Given the description of an element on the screen output the (x, y) to click on. 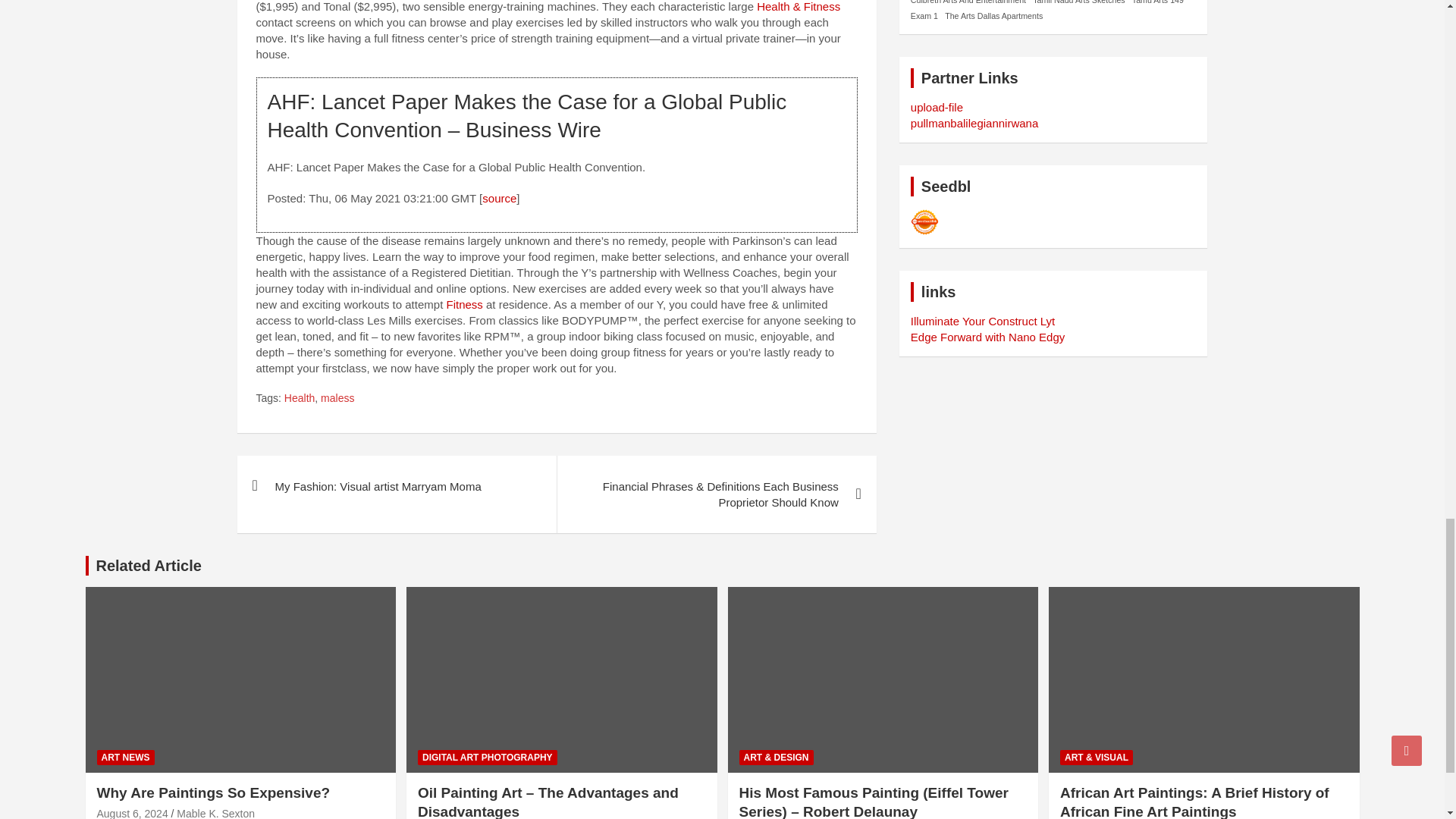
Why Are Paintings So Expensive? (132, 813)
Health (298, 398)
My Fashion: Visual artist Marryam Moma (395, 485)
source (498, 197)
Fitness (463, 304)
Seedbacklink (925, 222)
maless (336, 398)
